Given the description of an element on the screen output the (x, y) to click on. 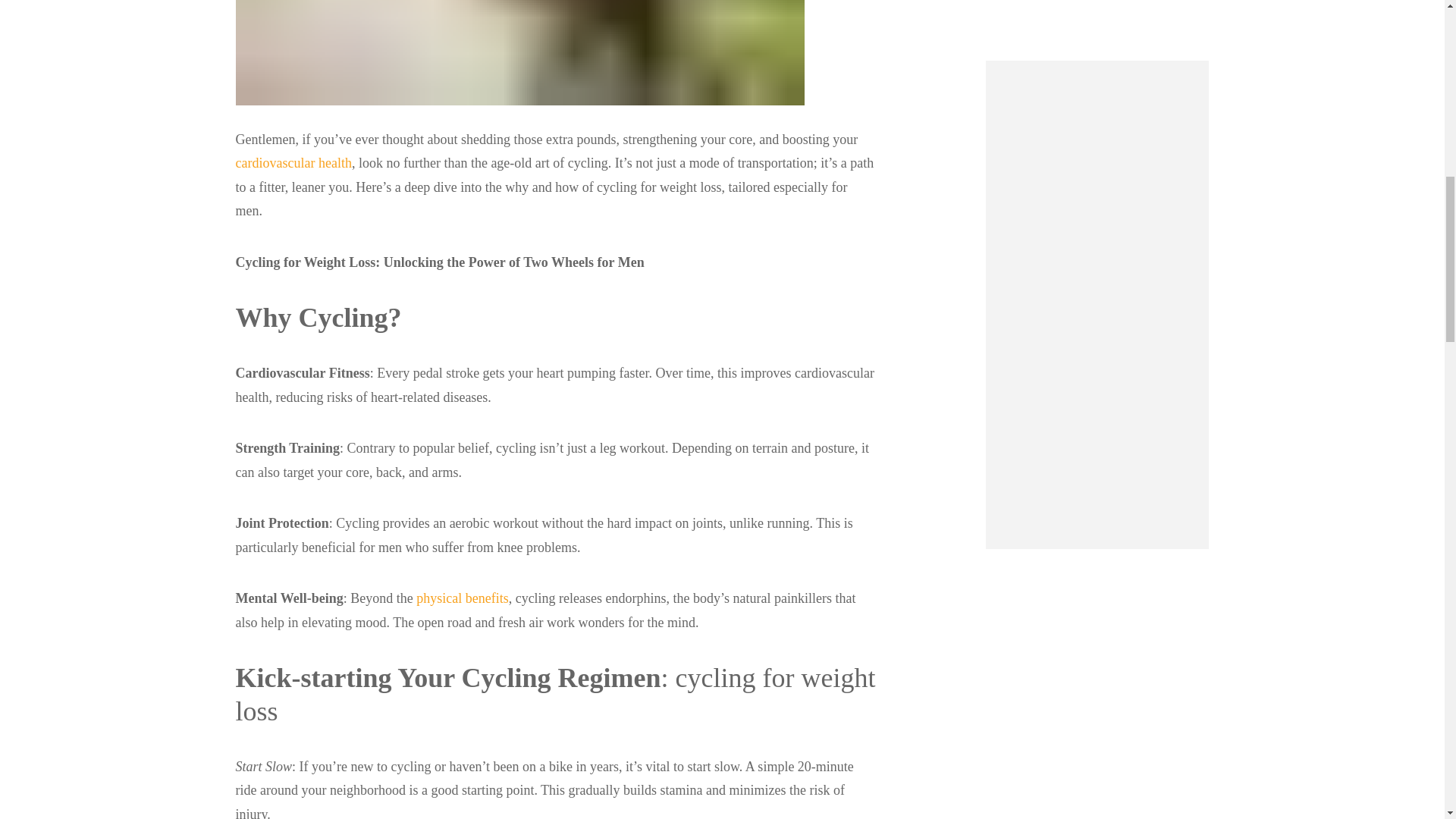
cardiovascular health (292, 162)
physical benefits (462, 598)
